Given the description of an element on the screen output the (x, y) to click on. 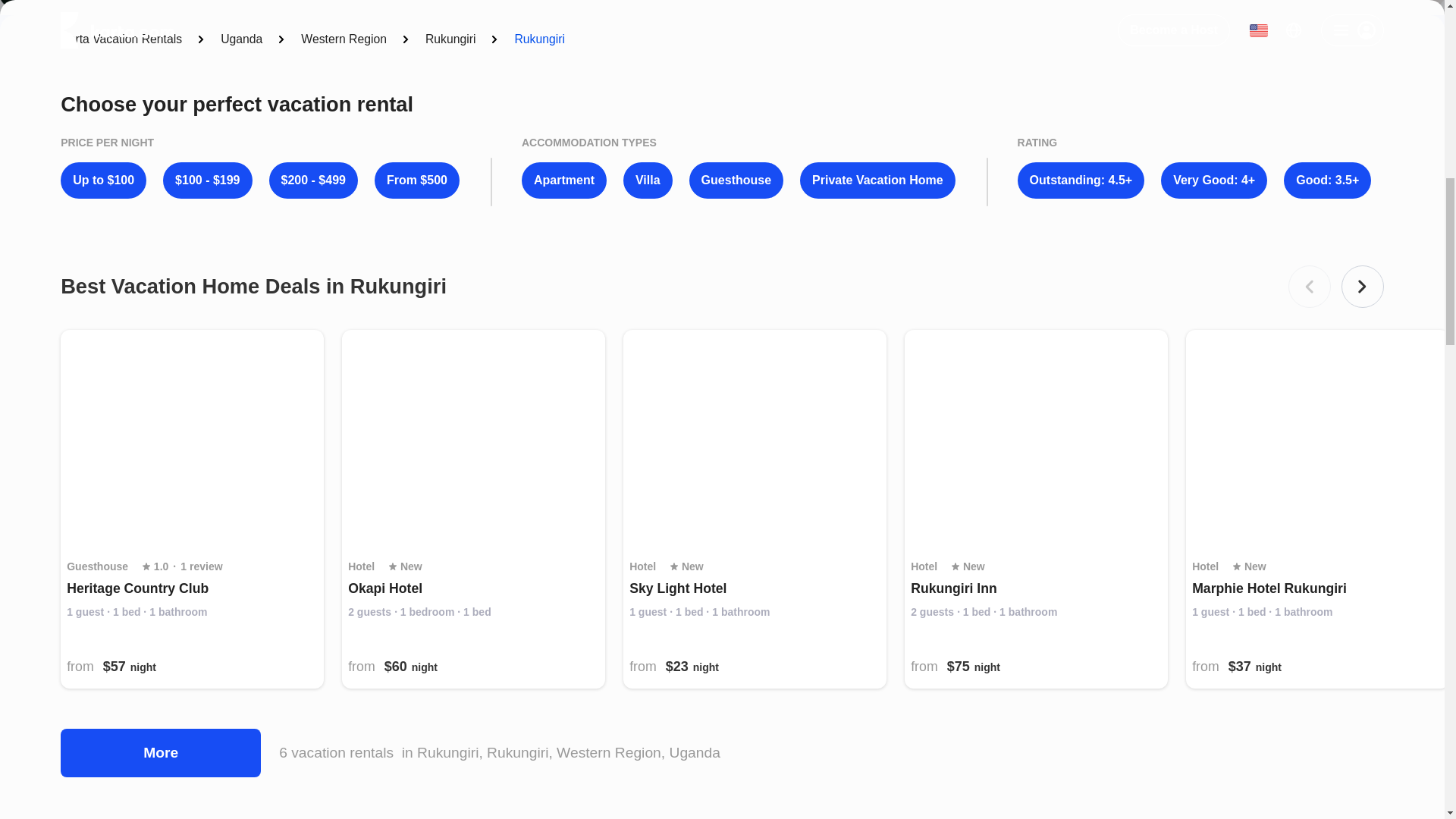
Western Region (344, 38)
Private Vacation Home (877, 180)
Uganda (241, 38)
Karta Vacation Rentals (121, 38)
Rukungiri (450, 38)
Villa (647, 180)
More (160, 752)
Guesthouse (735, 180)
Apartment (564, 180)
1 review (201, 567)
